Given the description of an element on the screen output the (x, y) to click on. 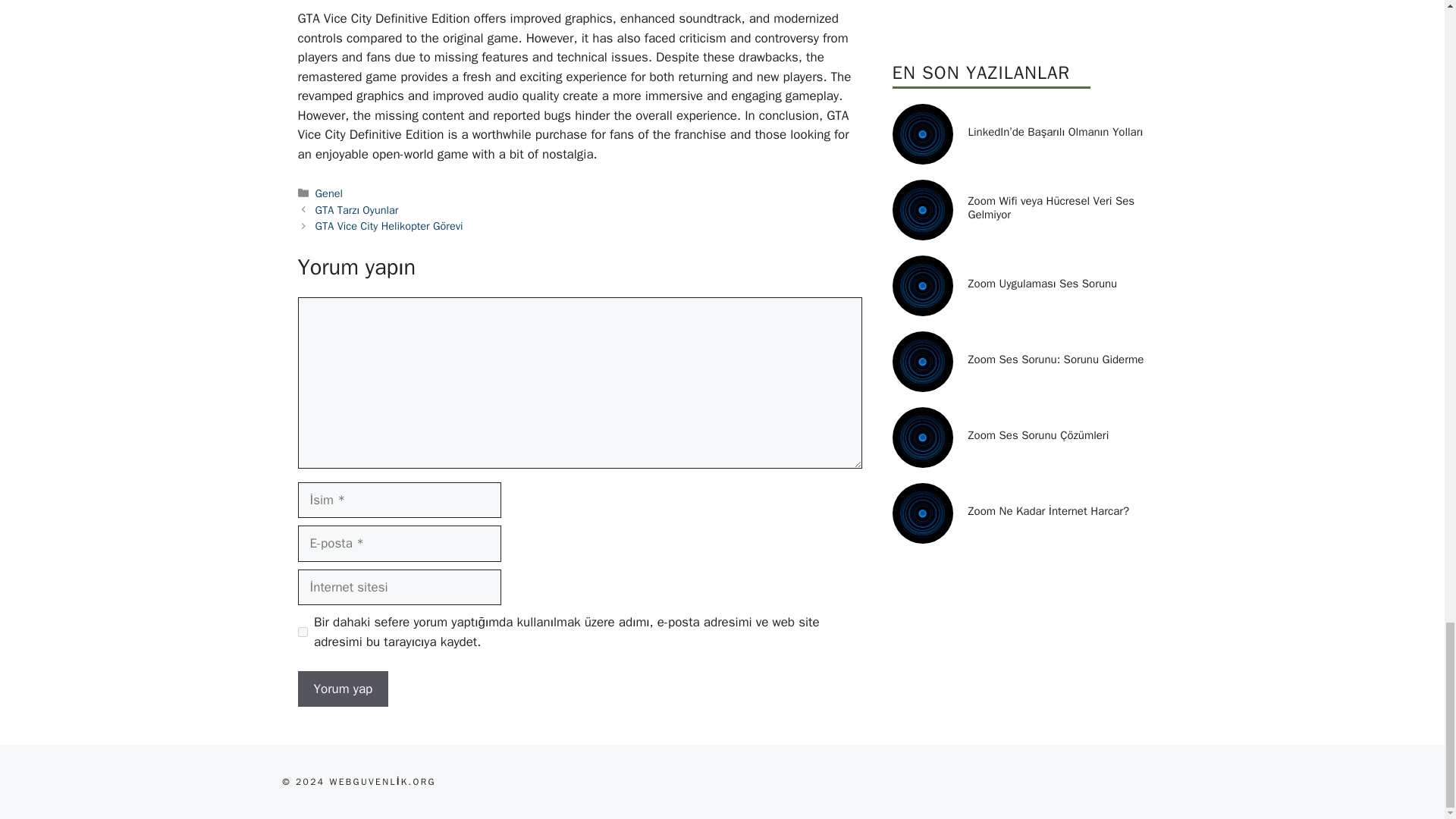
yes (302, 632)
Genel (328, 192)
Yorum yap (342, 688)
Yorum yap (342, 688)
